Given the description of an element on the screen output the (x, y) to click on. 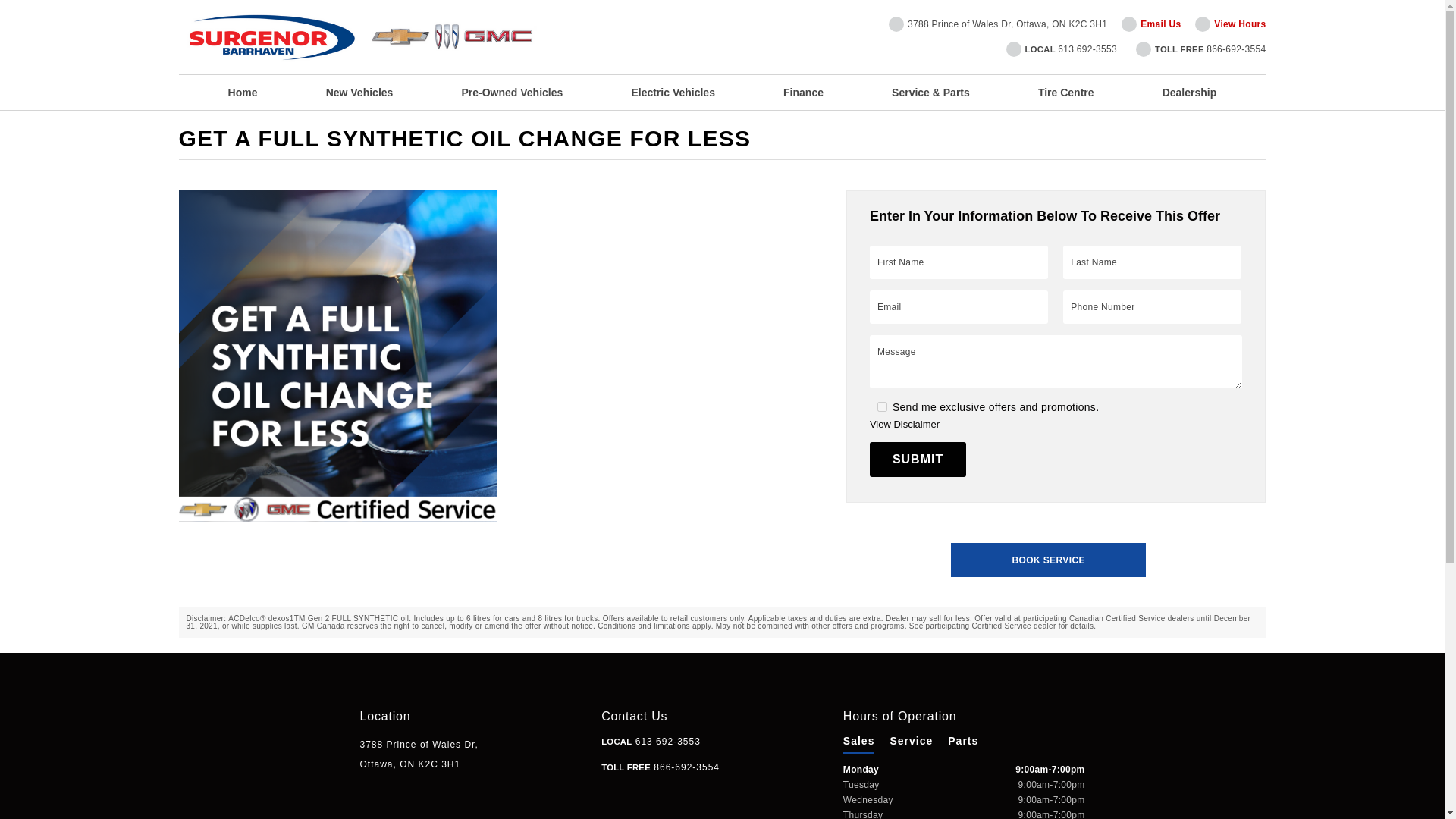
LOCAL 613 692-3553 (1061, 48)
Tire Centre (1066, 92)
TOLL FREE 866-692-3554 (660, 767)
Parts (962, 740)
TOLL FREE 866-692-3554 (1200, 48)
New Vehicles (359, 92)
Dealership (1189, 92)
Call 613 692-3553 (650, 741)
Electric Vehicles (672, 92)
LOCAL 613 692-3553 (650, 741)
